Given the description of an element on the screen output the (x, y) to click on. 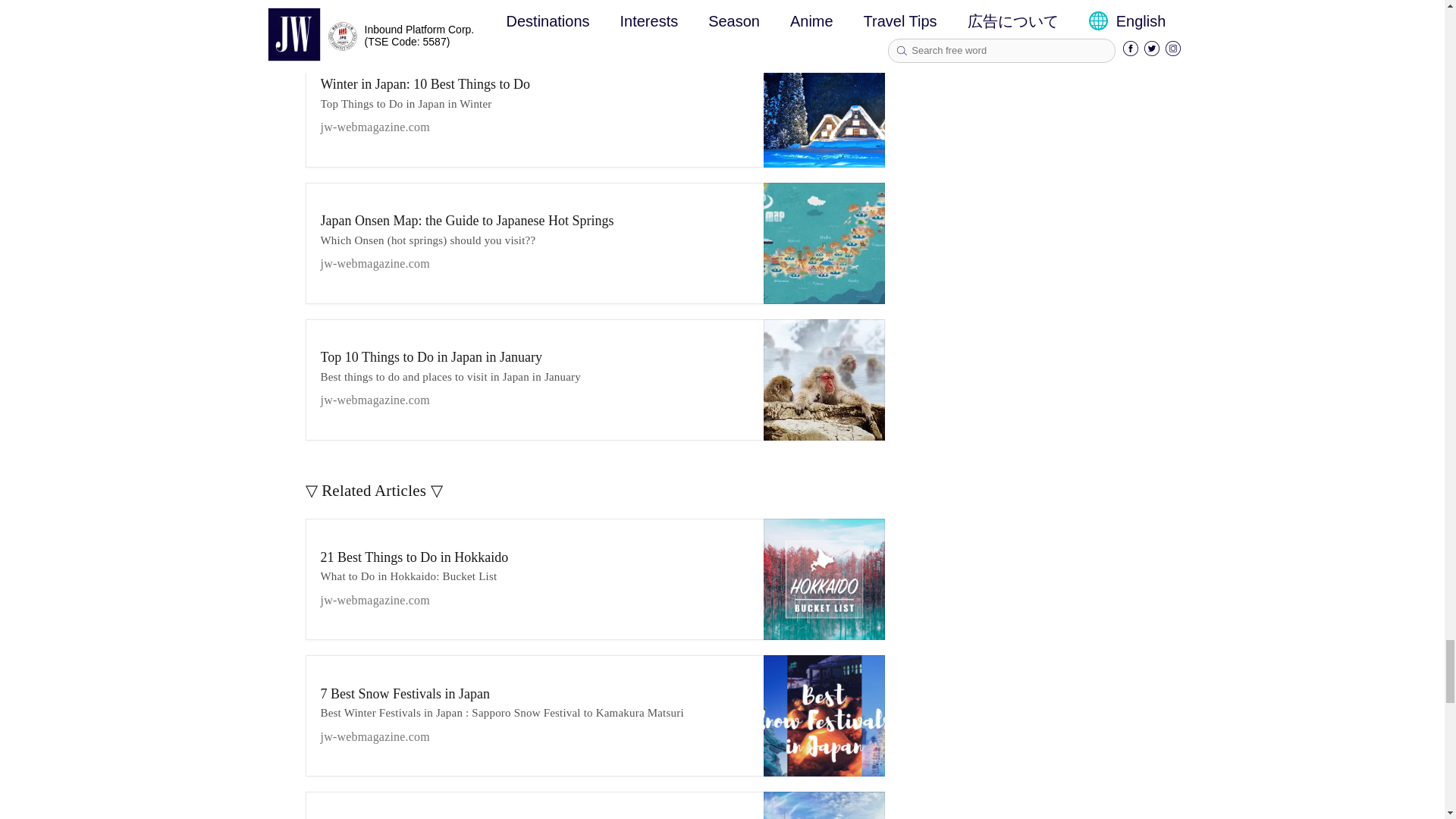
Winter in Japan: 10 Best Things to Do (822, 106)
Winter in Japan: 10 Best Things to Do (533, 105)
